Given the description of an element on the screen output the (x, y) to click on. 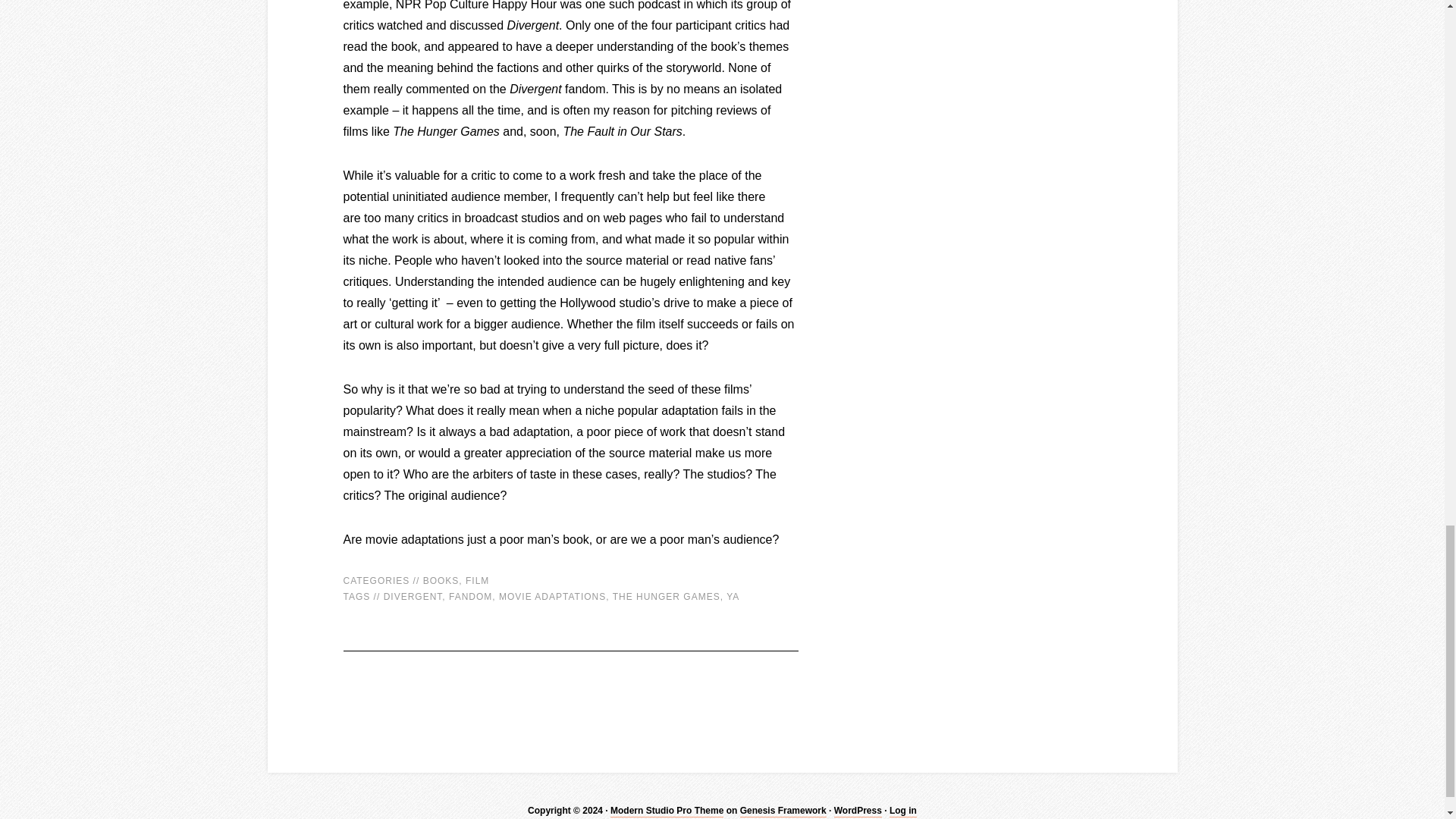
Log in (903, 811)
MOVIE ADAPTATIONS (552, 596)
YA (732, 596)
Genesis Framework (783, 811)
DIVERGENT (413, 596)
WordPress (858, 811)
FILM (477, 580)
Modern Studio Pro Theme (666, 811)
FANDOM (470, 596)
BOOKS (441, 580)
THE HUNGER GAMES (666, 596)
